Given the description of an element on the screen output the (x, y) to click on. 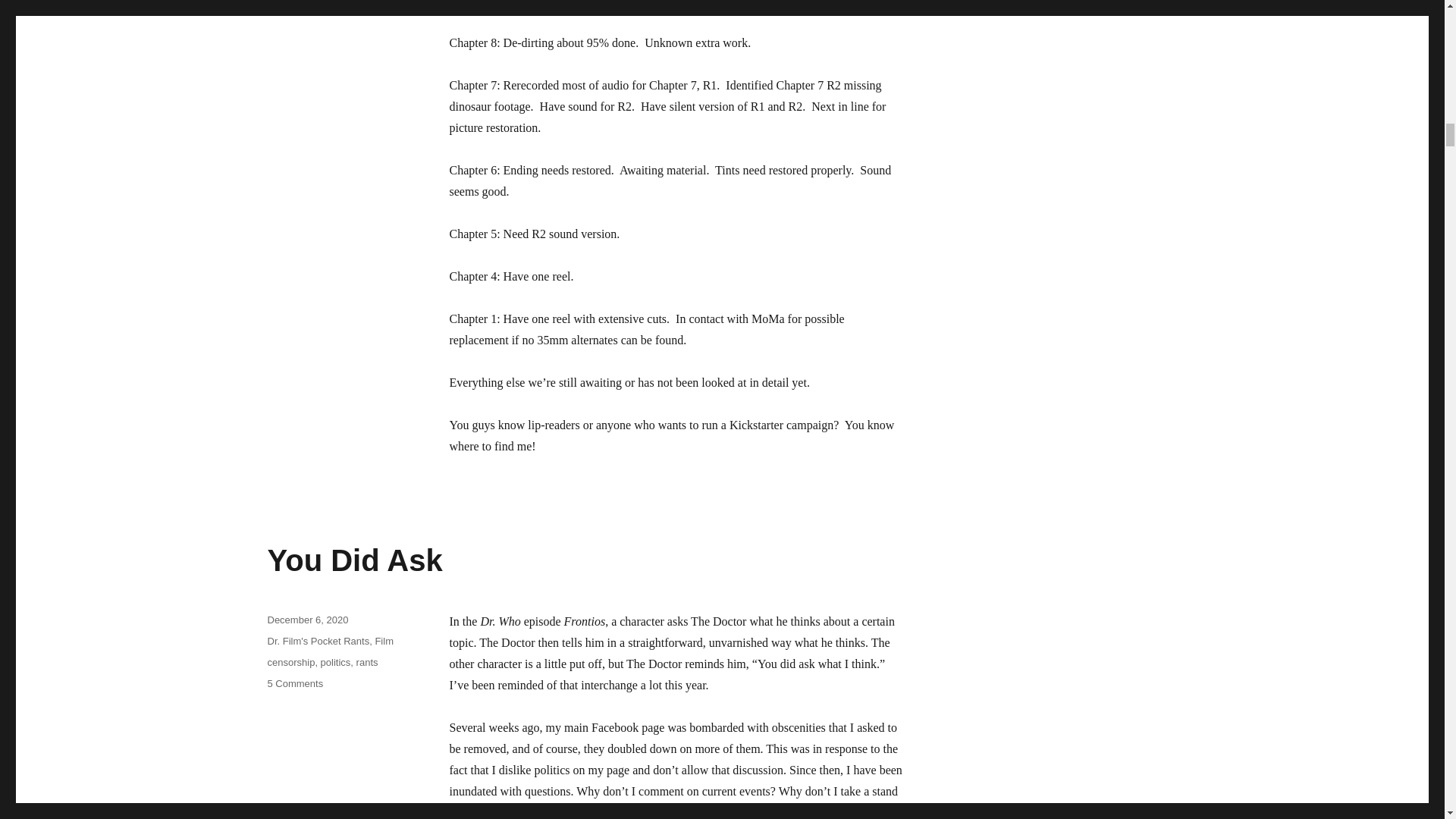
censorship (294, 683)
rants (290, 662)
December 6, 2020 (367, 662)
You Did Ask (306, 619)
Dr. Film's Pocket Rants (354, 560)
politics (317, 641)
Film (335, 662)
